Given the description of an element on the screen output the (x, y) to click on. 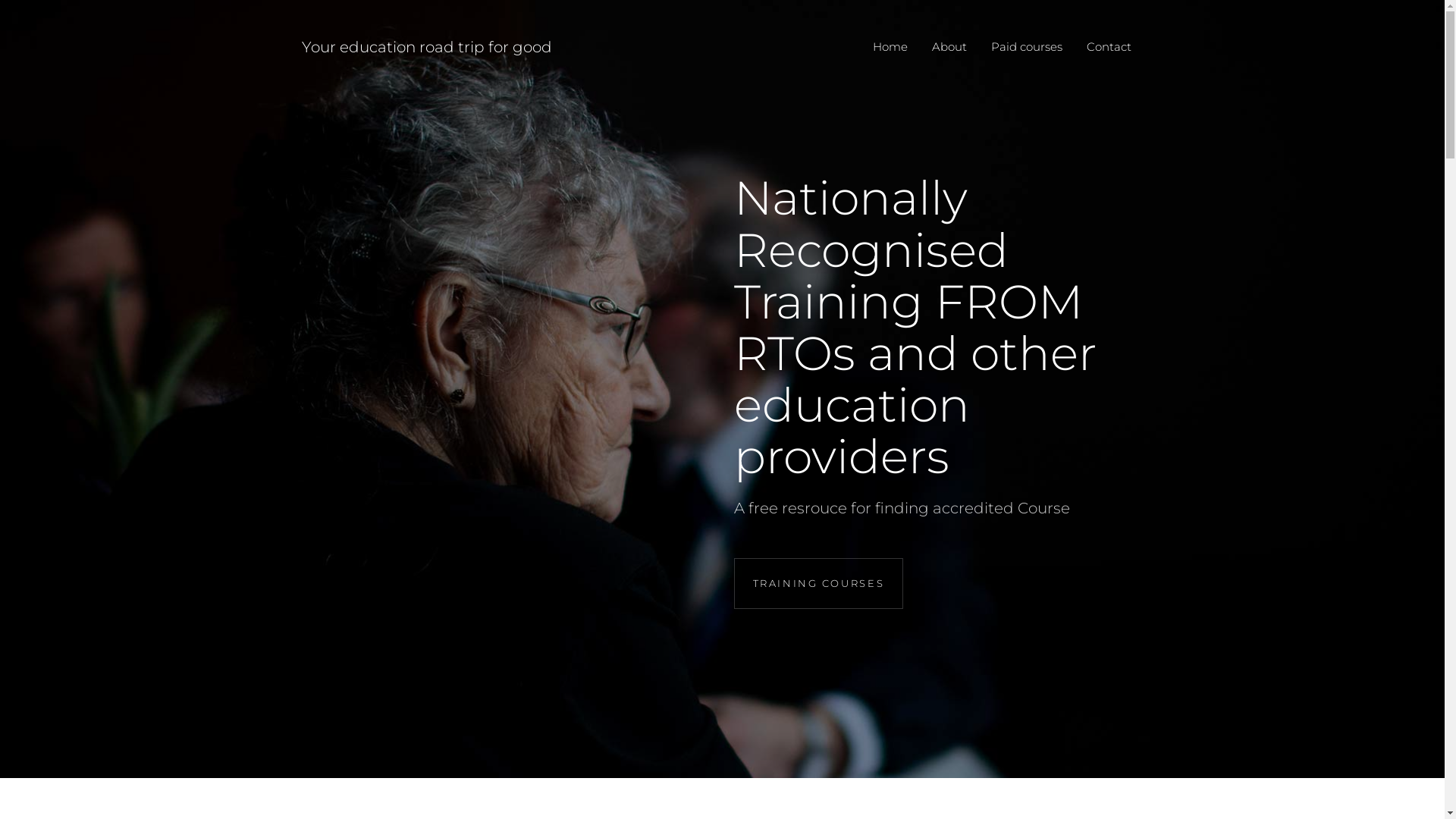
About Element type: text (948, 46)
Home Element type: text (889, 46)
Contact Element type: text (1107, 46)
Your education road trip for good Element type: text (426, 45)
Paid courses Element type: text (1025, 46)
TRAINING COURSES Element type: text (818, 583)
